Given the description of an element on the screen output the (x, y) to click on. 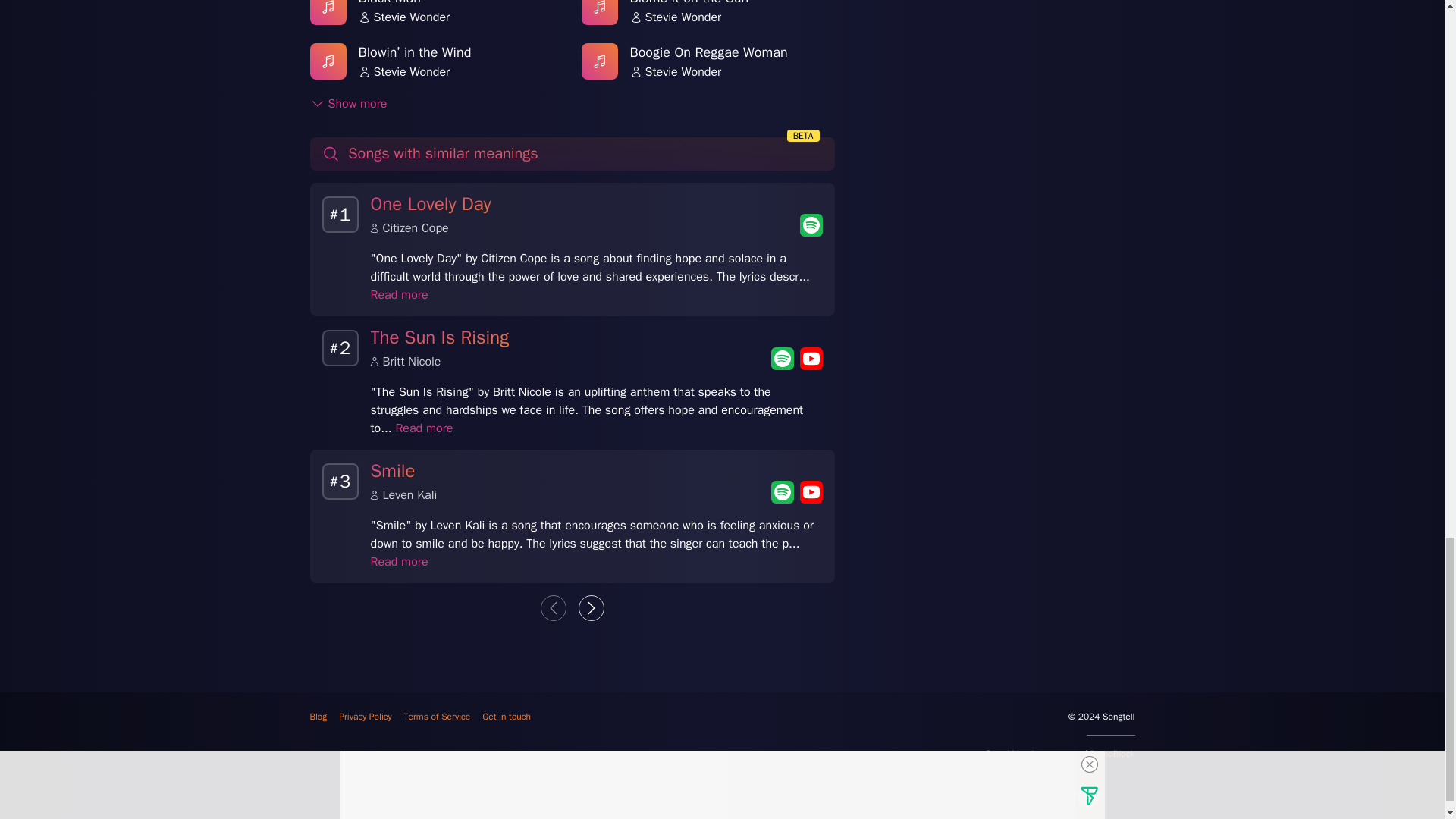
Read more (398, 294)
The Sun Is Rising (438, 338)
Read more (423, 427)
One Lovely Day (429, 205)
Smile (707, 17)
Show more (435, 17)
Read more (391, 472)
